Given the description of an element on the screen output the (x, y) to click on. 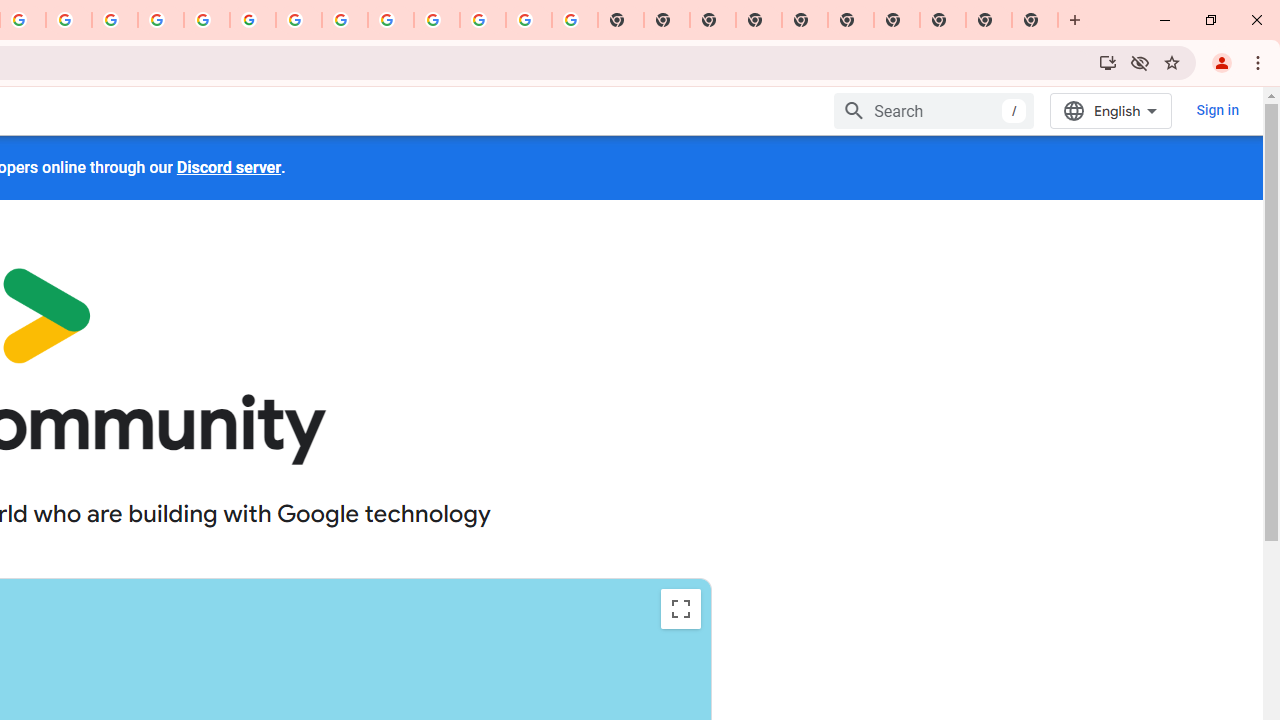
New Tab (759, 20)
New Tab (1035, 20)
Toggle fullscreen view (680, 608)
